Given the description of an element on the screen output the (x, y) to click on. 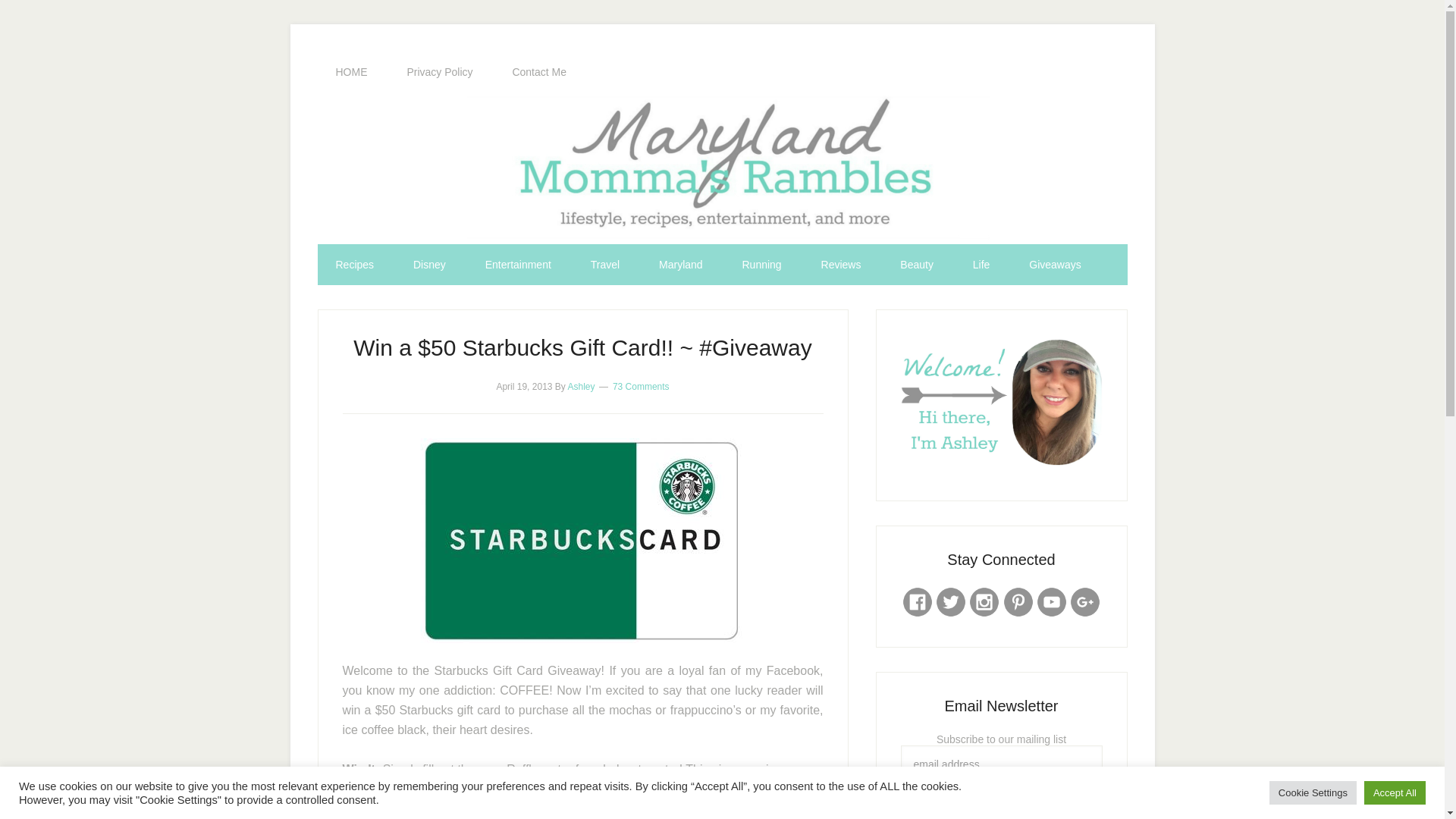
Privacy Policy (439, 71)
Recipes (354, 264)
Starbucks Gift Card (582, 540)
Running (761, 264)
73 Comments (640, 386)
Disney (429, 264)
Subscribe (1000, 800)
Life (982, 264)
Ashley (580, 386)
Beauty (917, 264)
Giveaways (1054, 264)
Travel (604, 264)
Maryland (680, 264)
Subscribe (1000, 800)
HOME (351, 71)
